Given the description of an element on the screen output the (x, y) to click on. 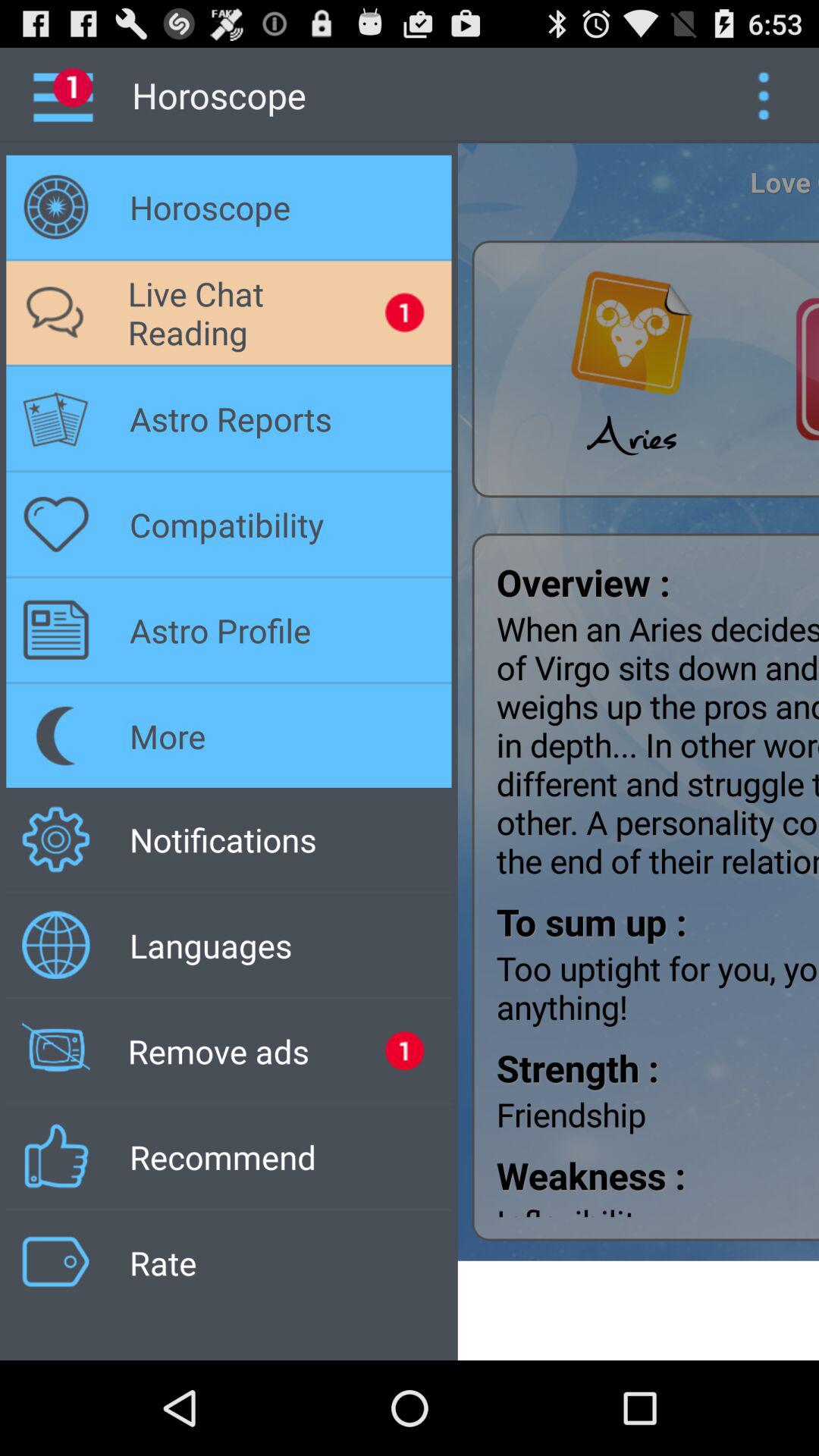
go to menu (763, 95)
